Given the description of an element on the screen output the (x, y) to click on. 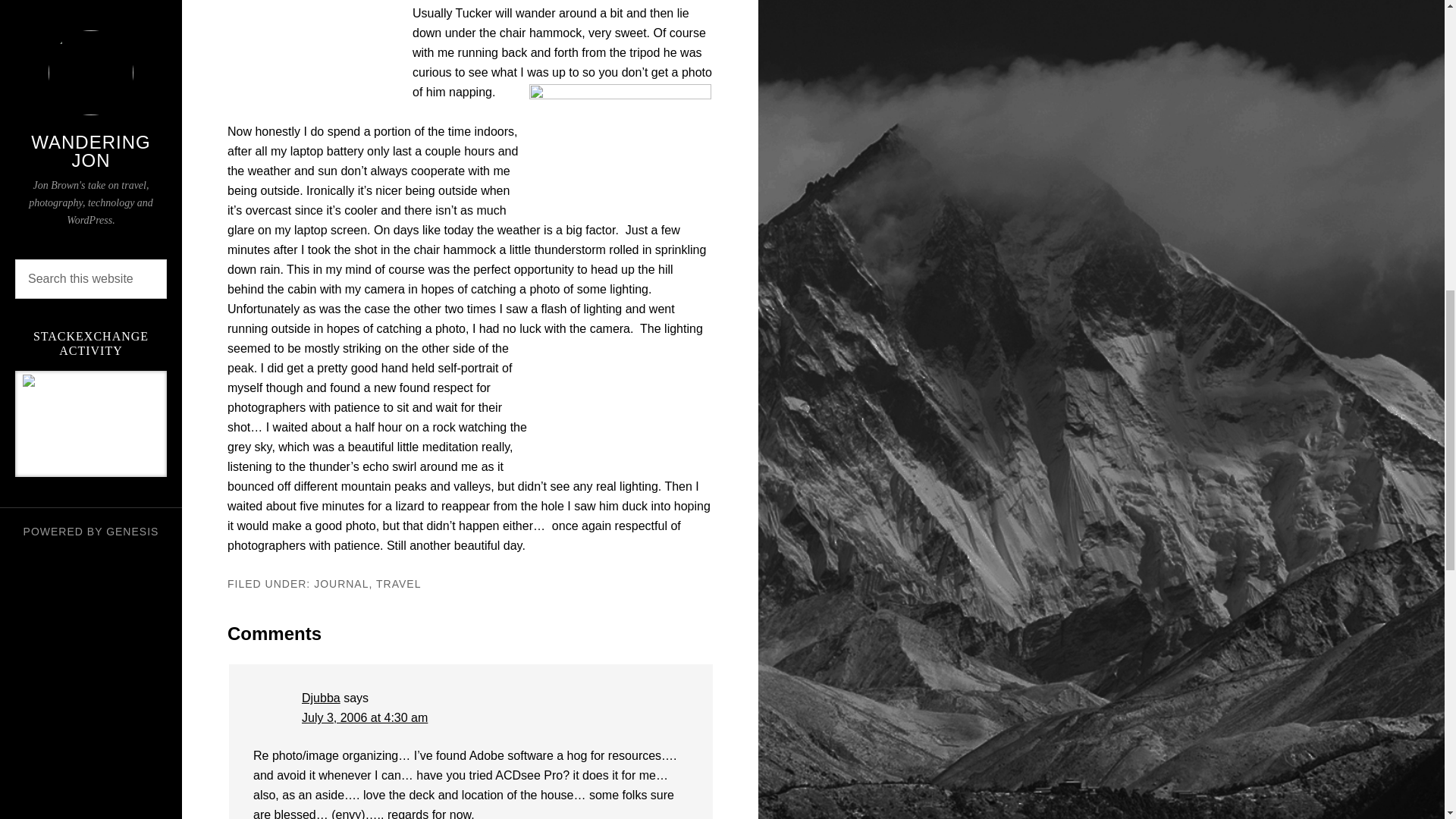
July 3, 2006 at 4:30 am (364, 717)
Djubba (320, 697)
JOURNAL (341, 583)
TRAVEL (397, 583)
